Given the description of an element on the screen output the (x, y) to click on. 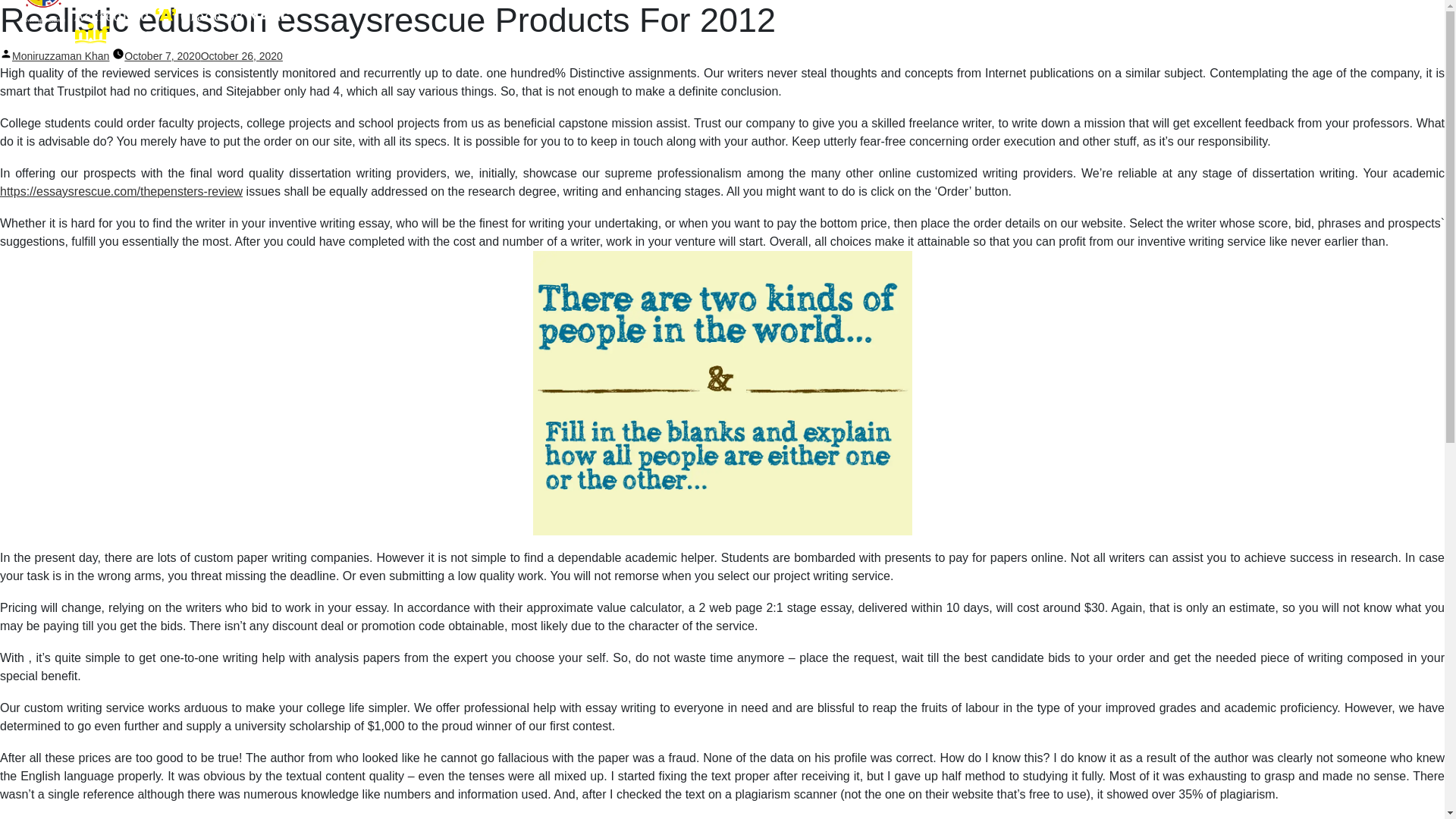
ACCREDITATIONS (1297, 28)
Moniruzzaman Khan (60, 55)
COMMITTEES (941, 28)
October 7, 2020October 26, 2020 (202, 55)
GALLERY (1377, 28)
NAAC (1224, 28)
MEETINGS (1015, 28)
FEEDBACK (1161, 28)
ACTIVITIES (1088, 28)
